Given the description of an element on the screen output the (x, y) to click on. 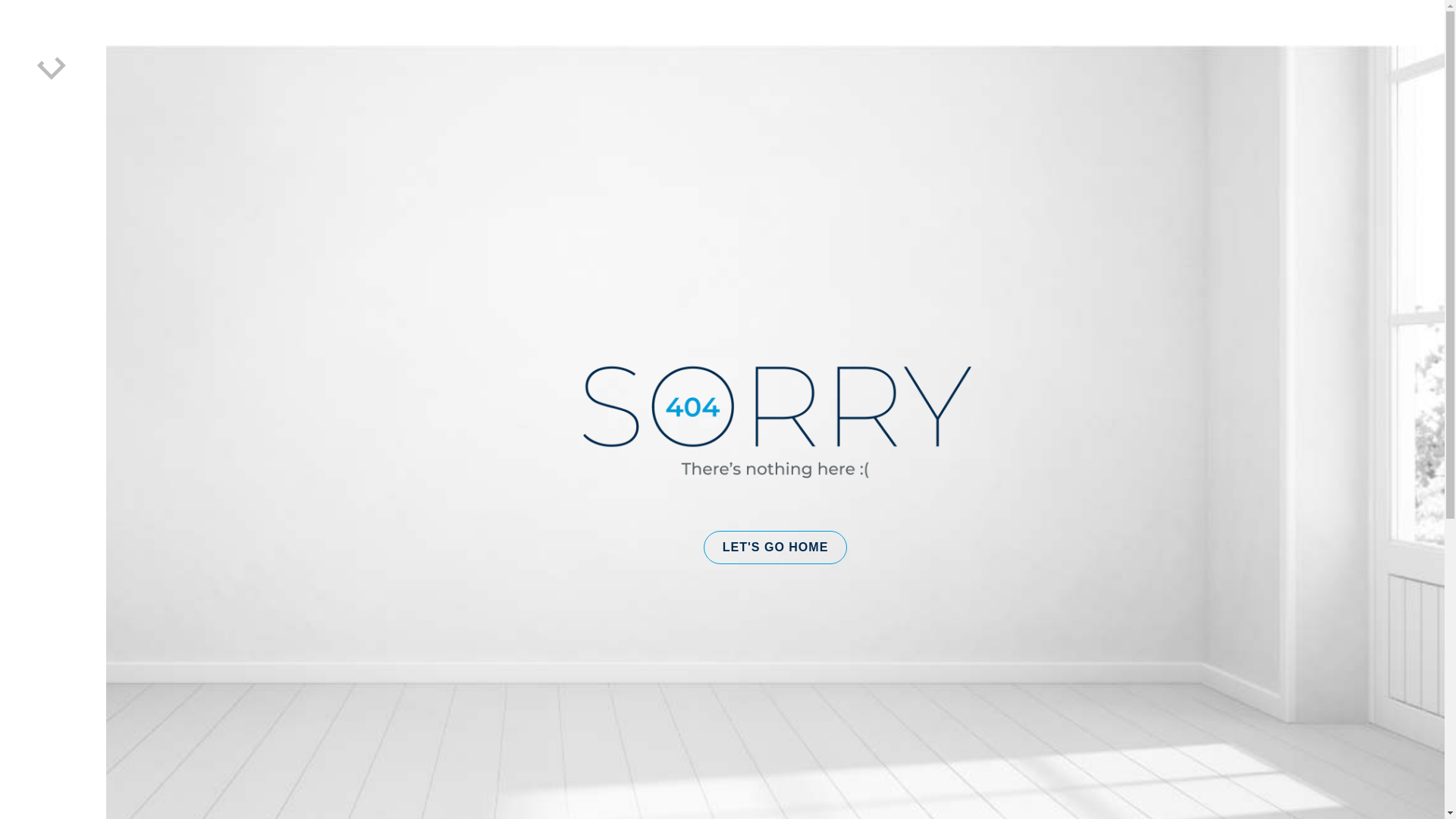
WINDERMERE BRIDGE LOAN (1072, 197)
HOME (131, 367)
MY TEAM (398, 339)
PROPERTY SEARCH (227, 352)
CLIENT SERVICES (423, 325)
SCHOOL DISTRICTS (1047, 262)
WATERFRONT REPORT (1056, 325)
TESTIMONIALS (414, 365)
QUARTERLY UPDATE (836, 325)
WATERFRONT (1031, 274)
LUXE TRENDS (1031, 339)
SHORELINE MASTER PLAN (1067, 287)
TOM FINE'S BLOG, FINE HOMES NW, INC. (636, 365)
DOCK PERMITS (1035, 313)
RESOURCES (1024, 75)
